Given the description of an element on the screen output the (x, y) to click on. 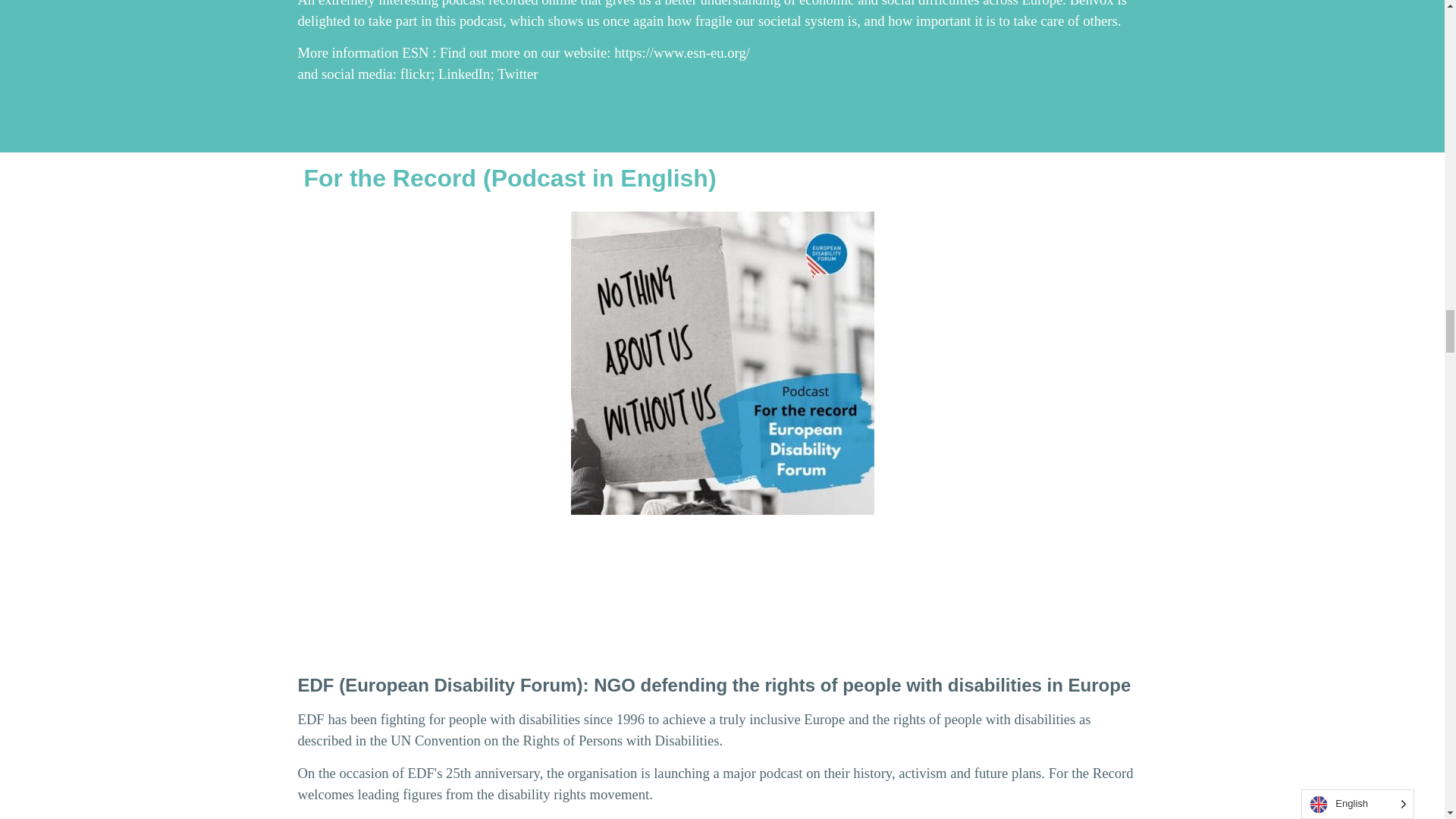
Twitter (517, 73)
LinkedIn (463, 73)
image podcast for the record edf (721, 363)
Embed Player (722, 587)
flickr (415, 73)
